Given the description of an element on the screen output the (x, y) to click on. 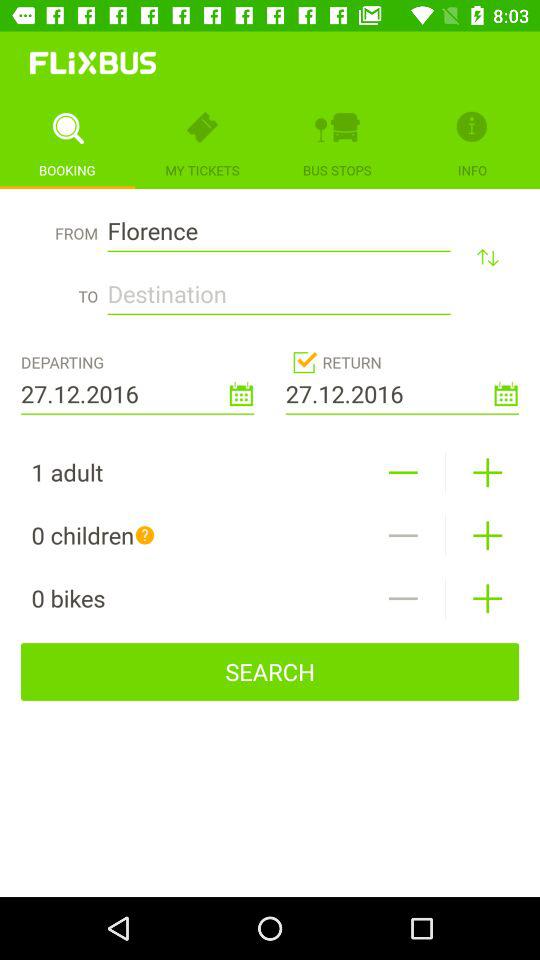
input destination (278, 288)
